Given the description of an element on the screen output the (x, y) to click on. 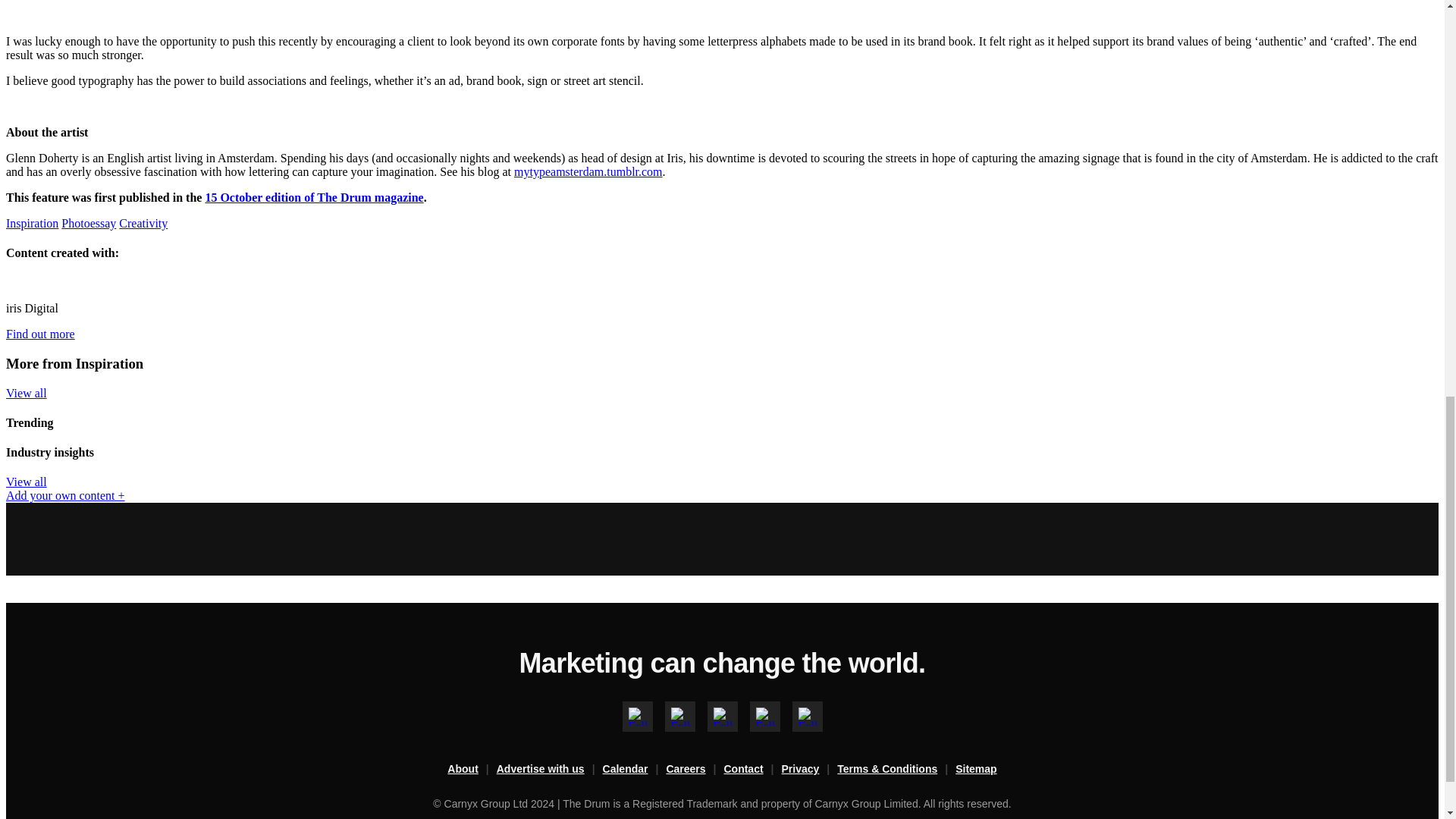
Inspiration (370, 366)
Creativity (525, 366)
View all (773, 611)
15 October edition of The Drum magazine (557, 301)
Photoessay (449, 366)
mytypeamsterdam.tumblr.com (592, 254)
Find out more (480, 501)
